Given the description of an element on the screen output the (x, y) to click on. 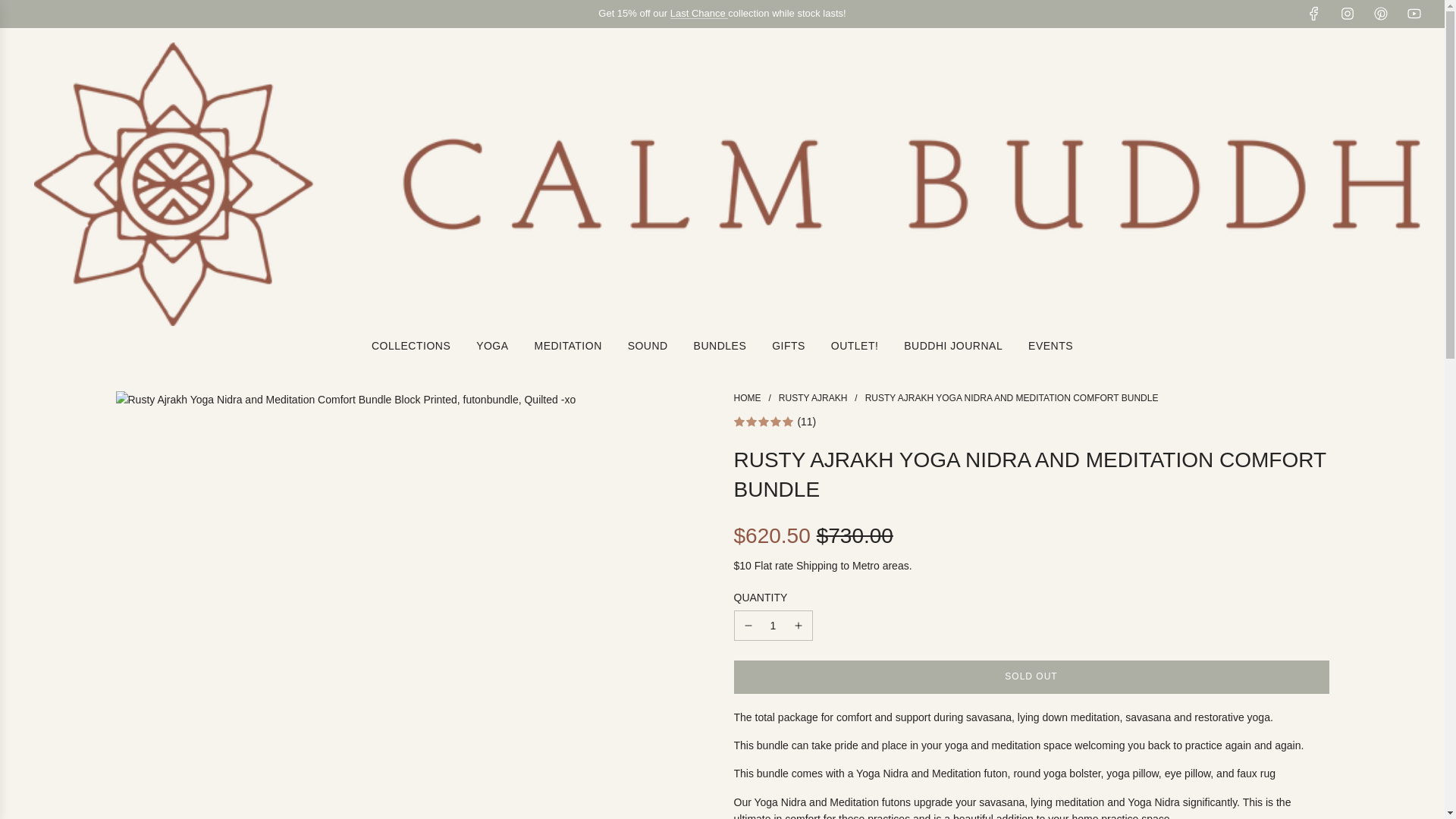
Rusty Ajrakh (812, 398)
Back to the frontpage (747, 398)
Last Chance (699, 12)
